Given the description of an element on the screen output the (x, y) to click on. 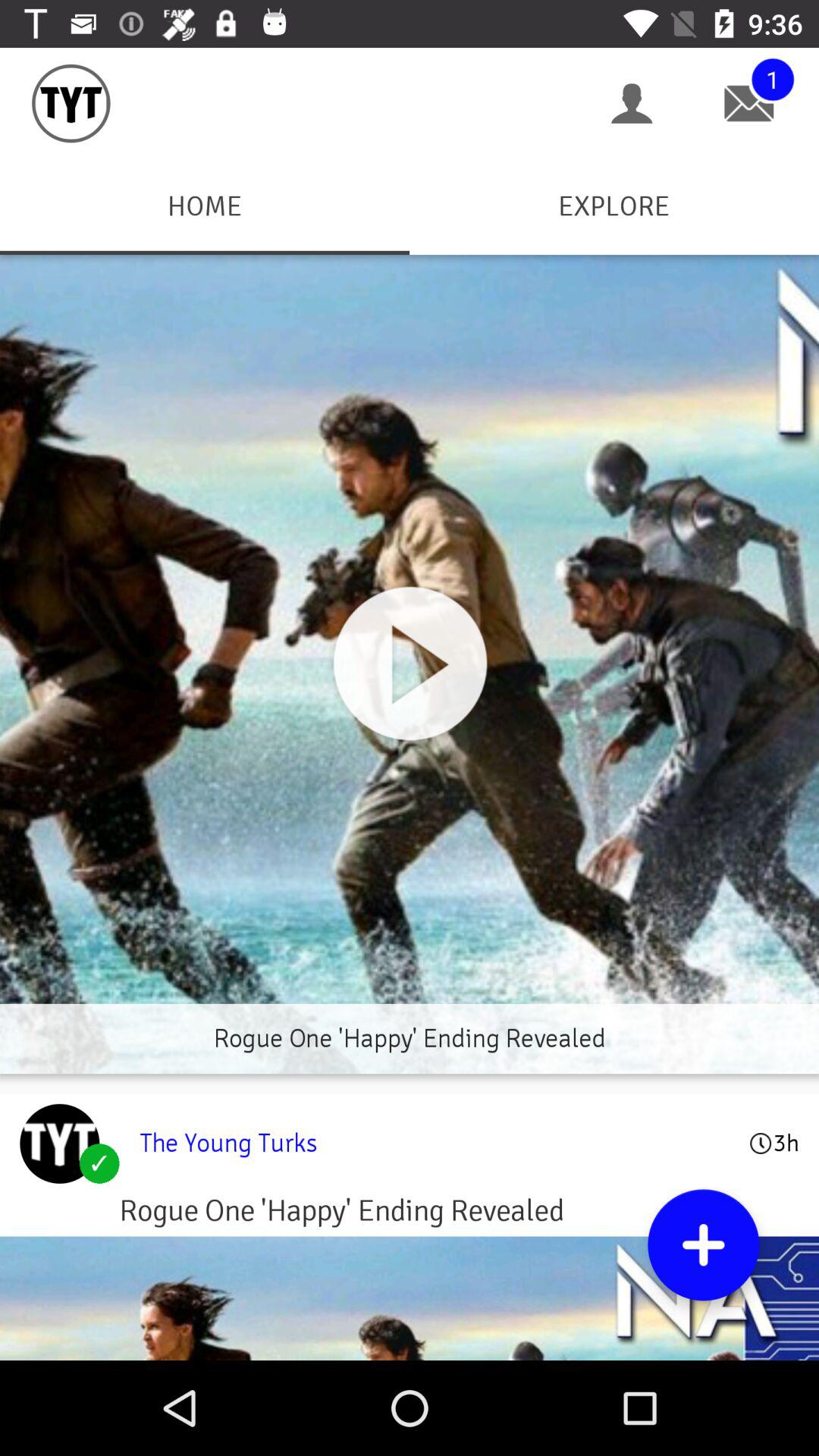
select icon to the left of rogue one happy icon (59, 1143)
